Given the description of an element on the screen output the (x, y) to click on. 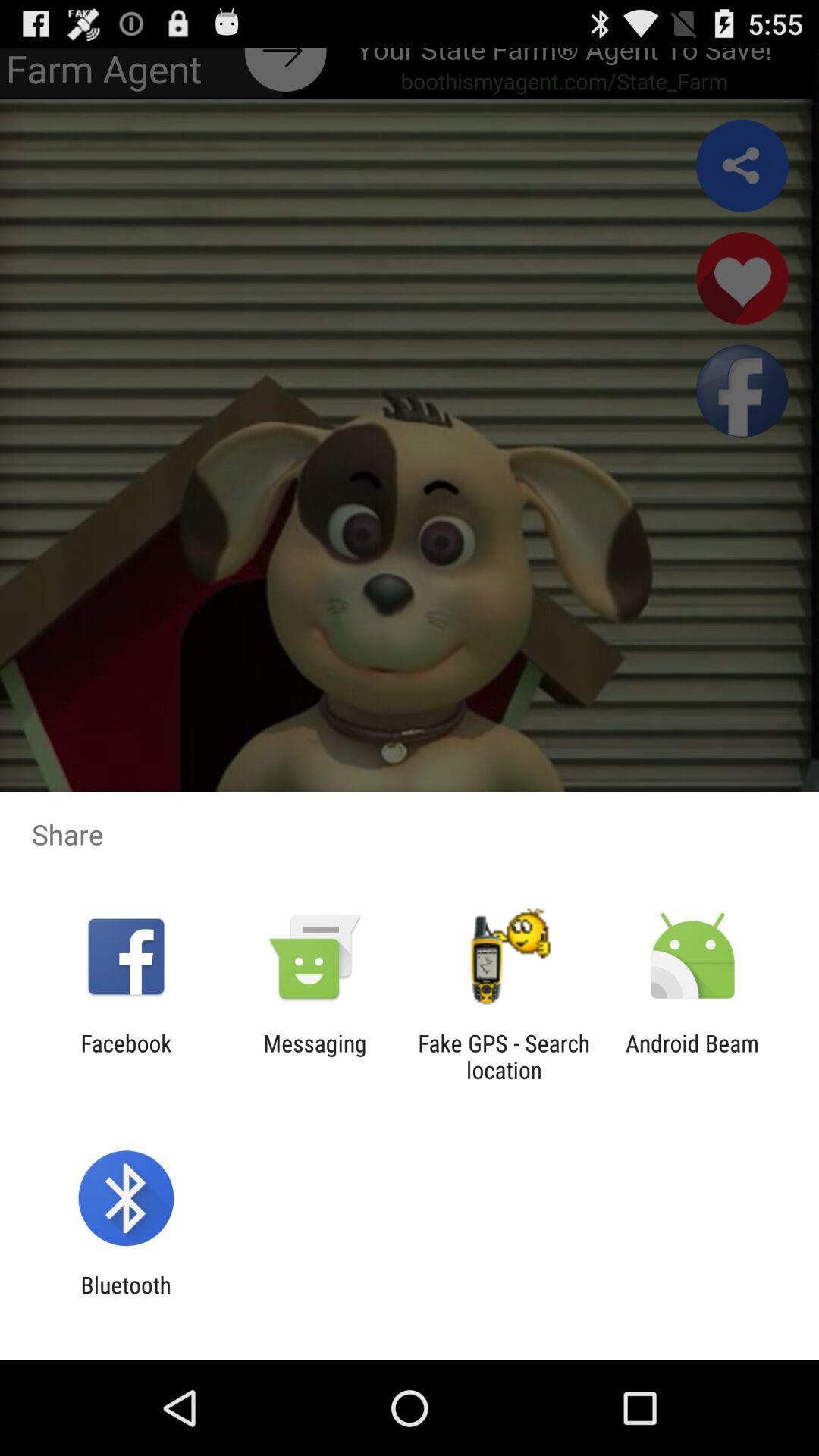
scroll until the fake gps search item (503, 1056)
